Given the description of an element on the screen output the (x, y) to click on. 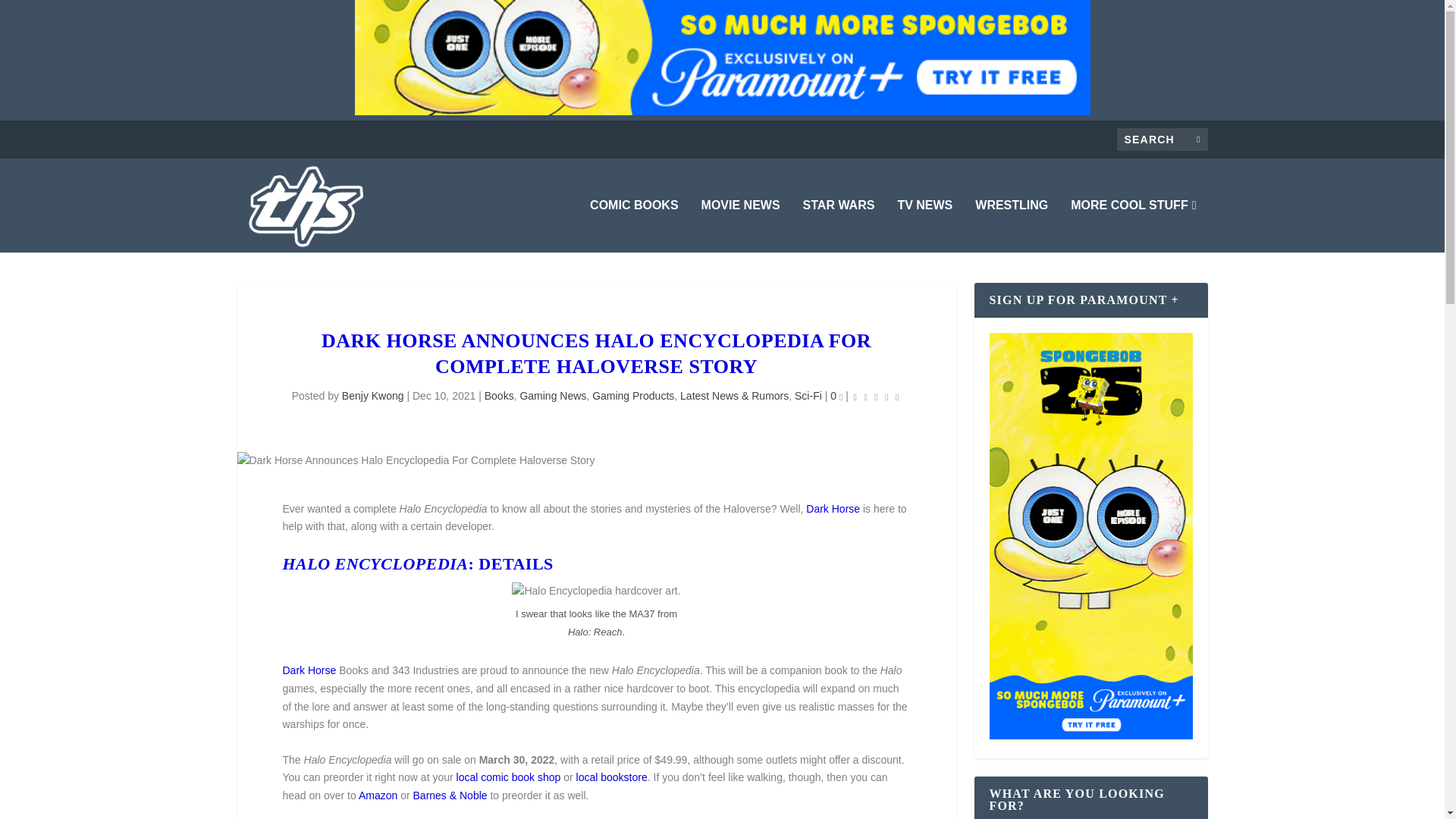
Dark Horse (833, 508)
MOVIE NEWS (740, 225)
COMIC BOOKS (633, 225)
Books (498, 395)
Benjy Kwong (373, 395)
Sci-Fi (808, 395)
Search for: (1161, 138)
Gaming News (552, 395)
TV NEWS (924, 225)
STAR WARS (839, 225)
Posts by Benjy Kwong (373, 395)
Rating: 0.00 (876, 396)
MORE COOL STUFF (1132, 225)
0 (836, 395)
WRESTLING (1011, 225)
